Given the description of an element on the screen output the (x, y) to click on. 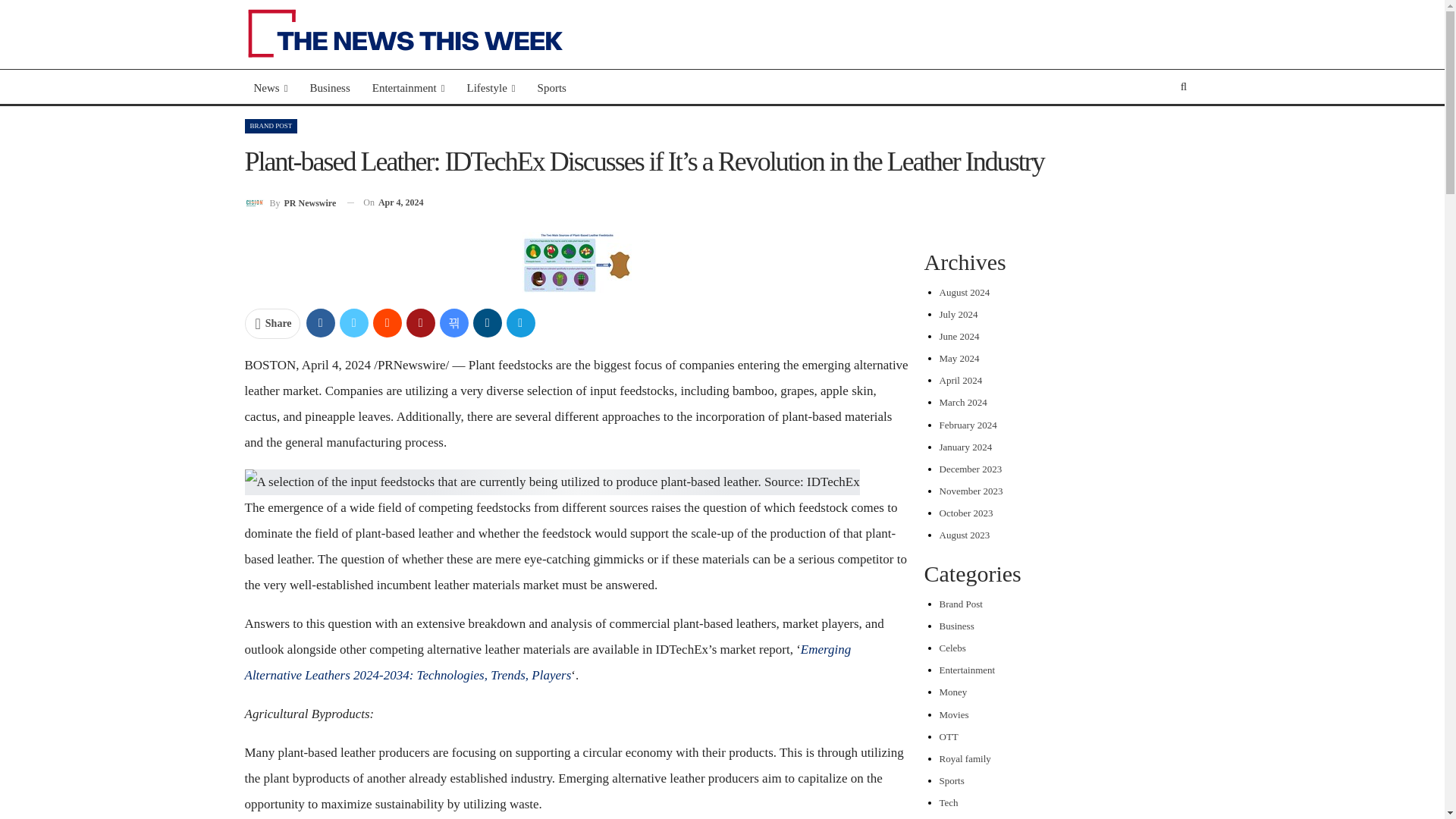
Sports (551, 87)
By PR Newswire (290, 202)
Business (328, 87)
BRAND POST (270, 125)
Entertainment (408, 87)
News (270, 87)
Browse Author Articles (290, 202)
Lifestyle (490, 87)
